Given the description of an element on the screen output the (x, y) to click on. 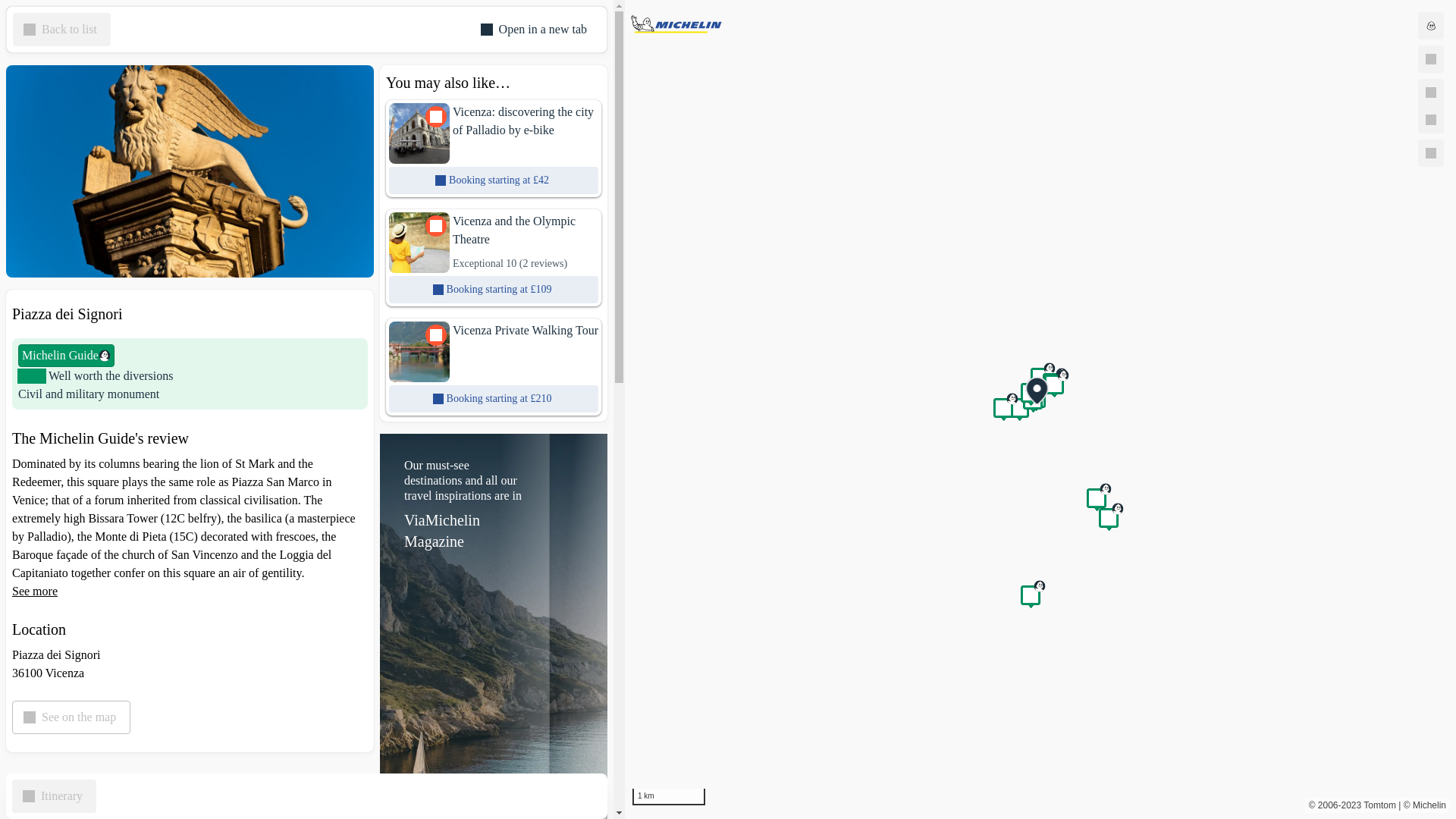
See on the map (71, 717)
Itinerary (53, 796)
Back to list (61, 29)
See more (34, 590)
Open in a new tab (534, 29)
